Given the description of an element on the screen output the (x, y) to click on. 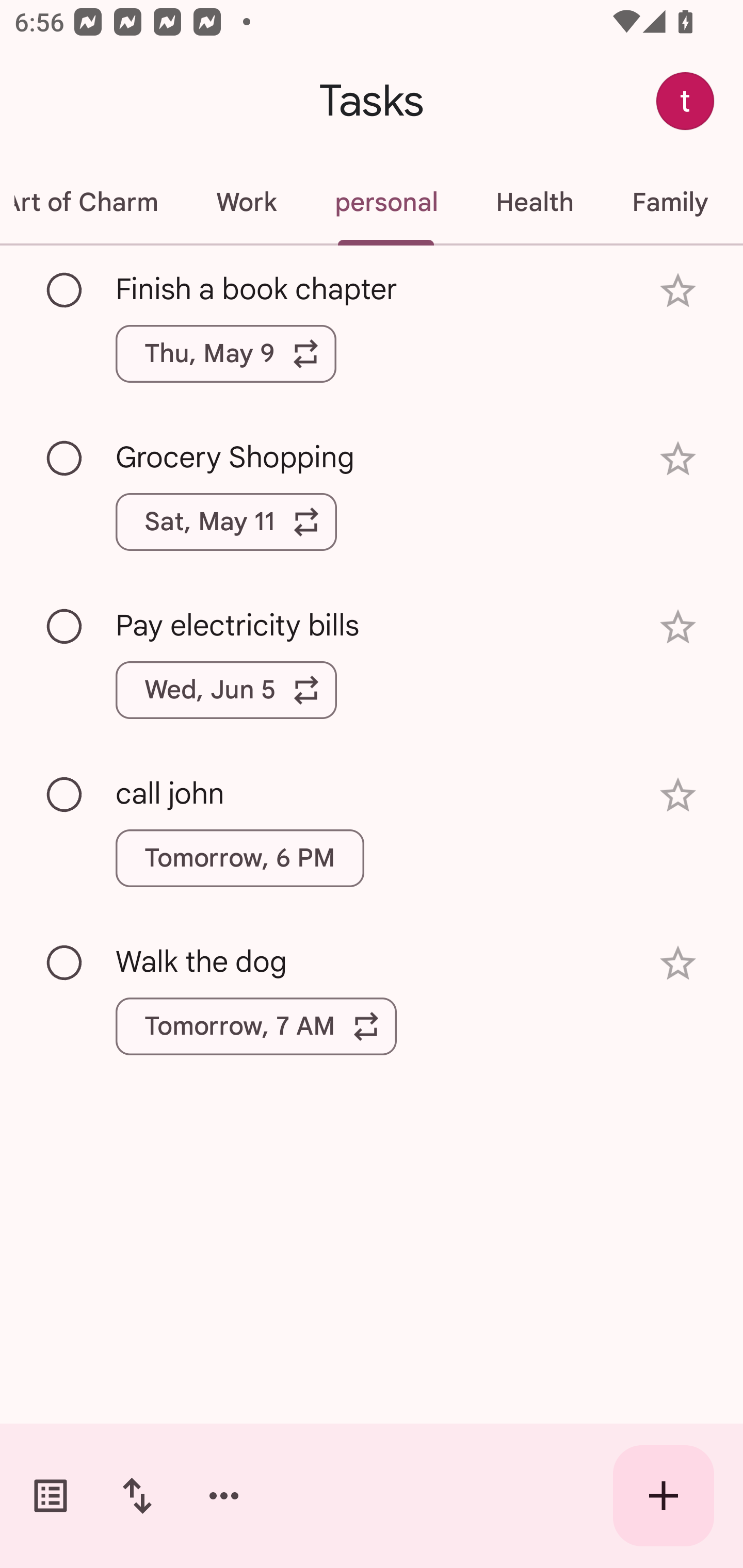
The Art of Charm (93, 202)
Work (245, 202)
Health (534, 202)
Family (669, 202)
Add star (677, 290)
Mark as complete (64, 290)
Thu, May 9 (225, 353)
Add star (677, 458)
Mark as complete (64, 459)
Sat, May 11 (225, 522)
Add star (677, 627)
Mark as complete (64, 627)
Wed, Jun 5 (225, 689)
Add star (677, 795)
Mark as complete (64, 794)
Tomorrow, 6 PM (239, 858)
Add star (677, 963)
Mark as complete (64, 963)
Tomorrow, 7 AM (255, 1026)
Switch task lists (50, 1495)
Create new task (663, 1495)
Change sort order (136, 1495)
More options (223, 1495)
